Given the description of an element on the screen output the (x, y) to click on. 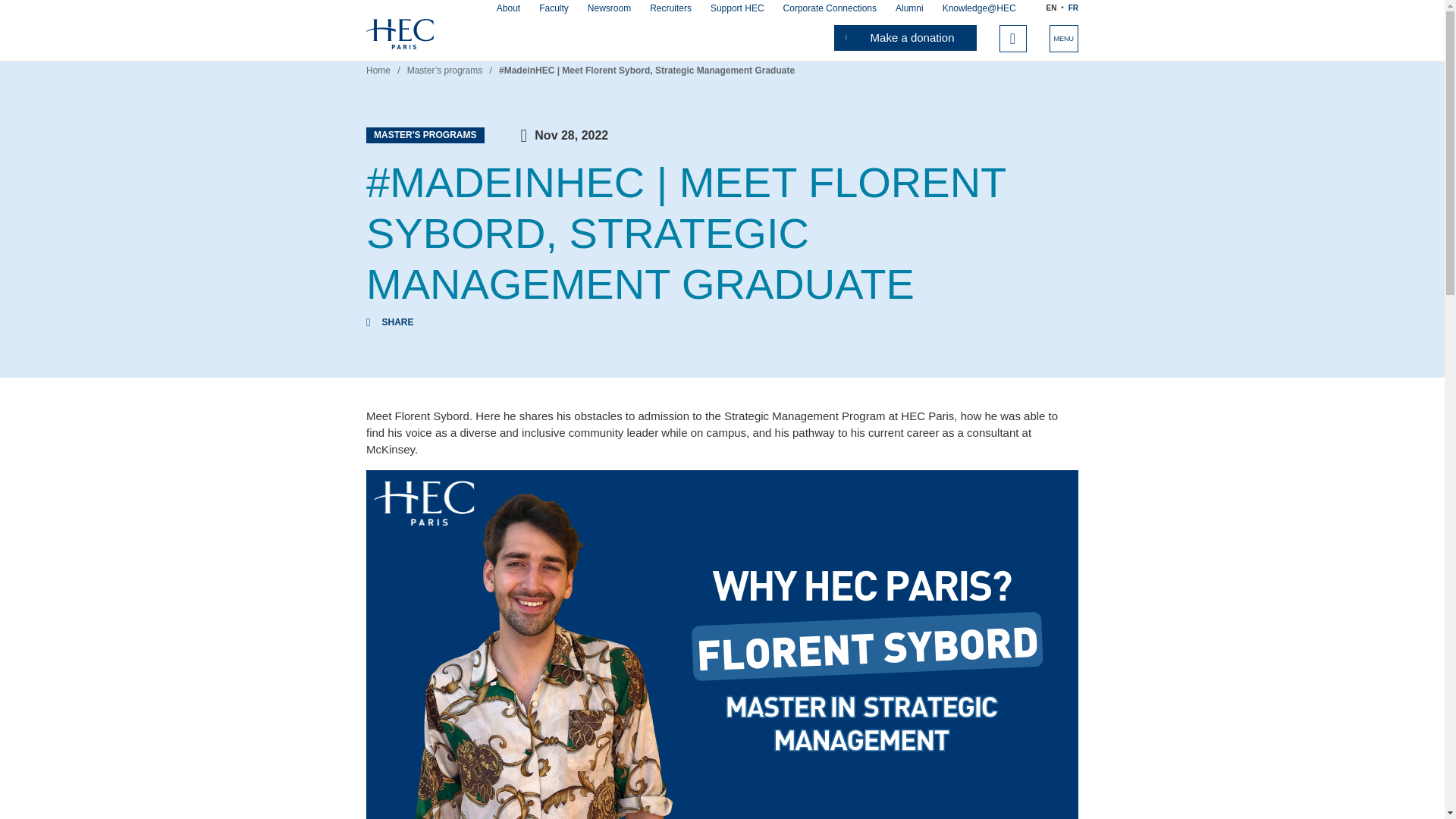
Make a donation (905, 37)
admission (523, 19)
Alumni (909, 8)
MENU (1063, 38)
FR (1073, 8)
Support HEC (737, 8)
Recruiters (670, 8)
Newsroom (609, 8)
Recruiters (670, 8)
